Given the description of an element on the screen output the (x, y) to click on. 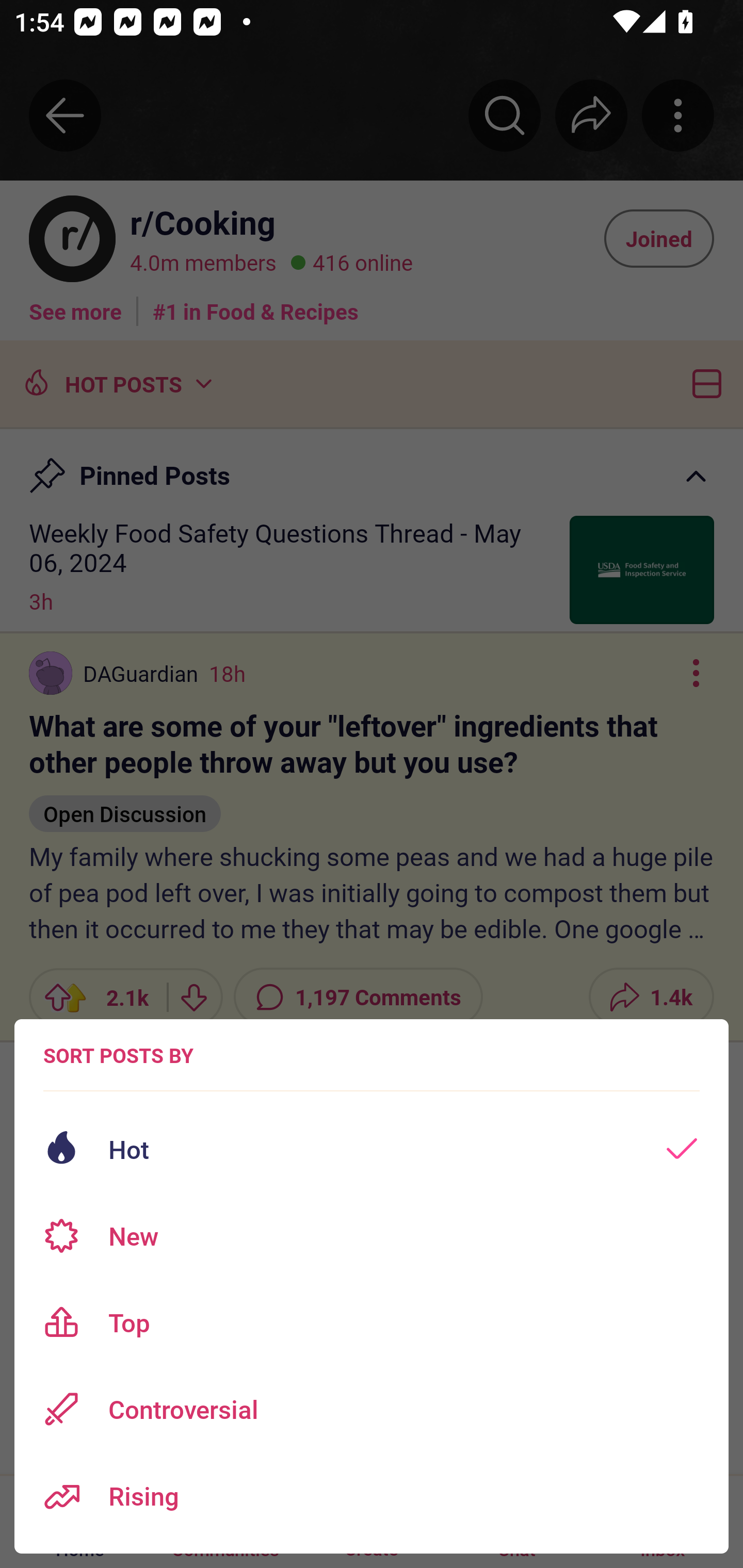
SORT POSTS BY Sort posts options (118, 1055)
Hot (371, 1149)
New (371, 1236)
Top (371, 1322)
Controversial (371, 1408)
Rising (371, 1495)
